Given the description of an element on the screen output the (x, y) to click on. 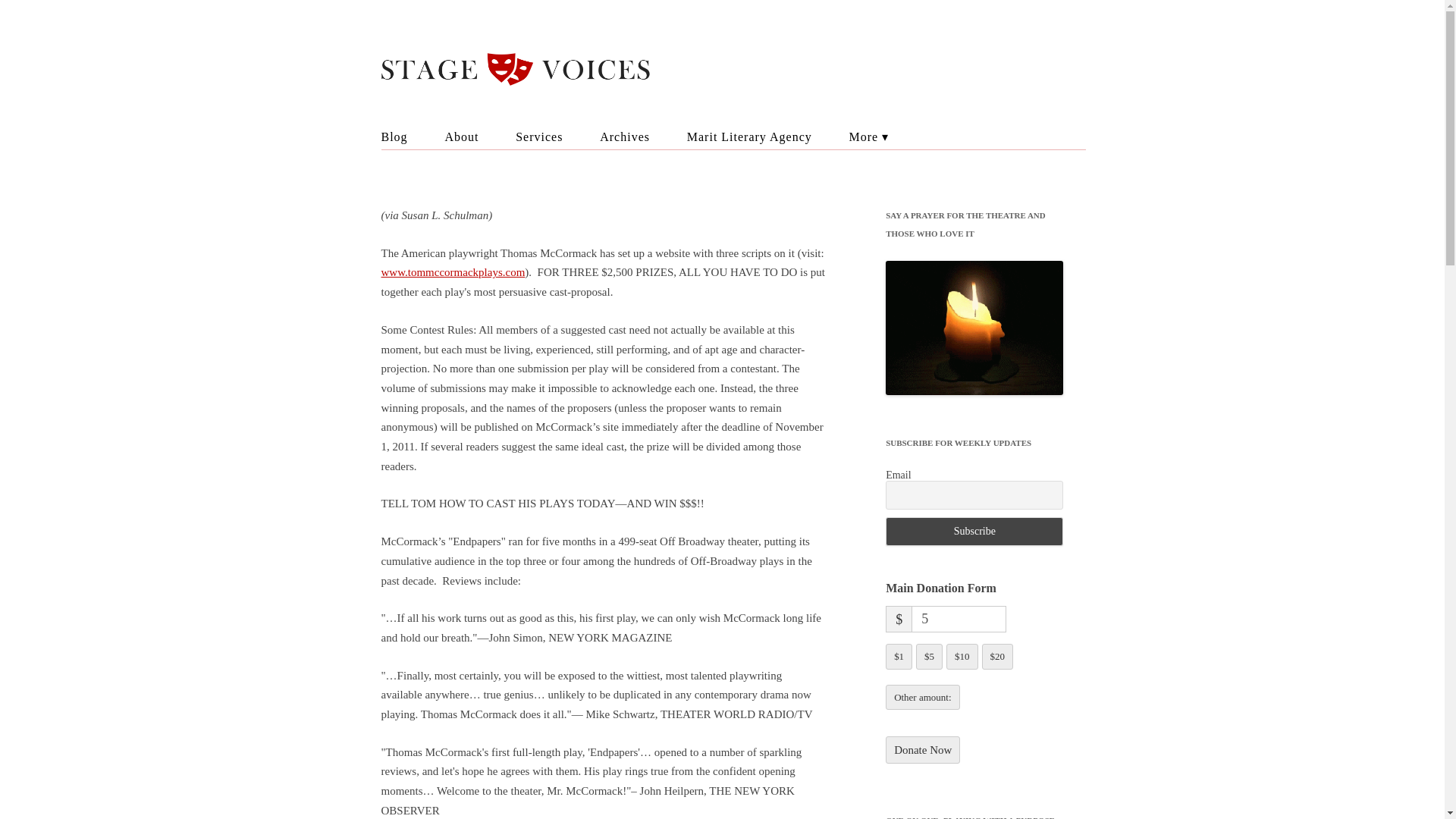
Other amount: (922, 697)
Services (538, 137)
Theatre (924, 164)
Stage Voices (744, 69)
www.tommccormackplays.com (452, 272)
Subscribe (973, 531)
About (461, 137)
Donate Now (922, 749)
Stage Voices (744, 69)
Subscribe (973, 531)
Marit Literary Agency (749, 137)
Blog (393, 137)
Archives (624, 137)
5 (958, 619)
